Given the description of an element on the screen output the (x, y) to click on. 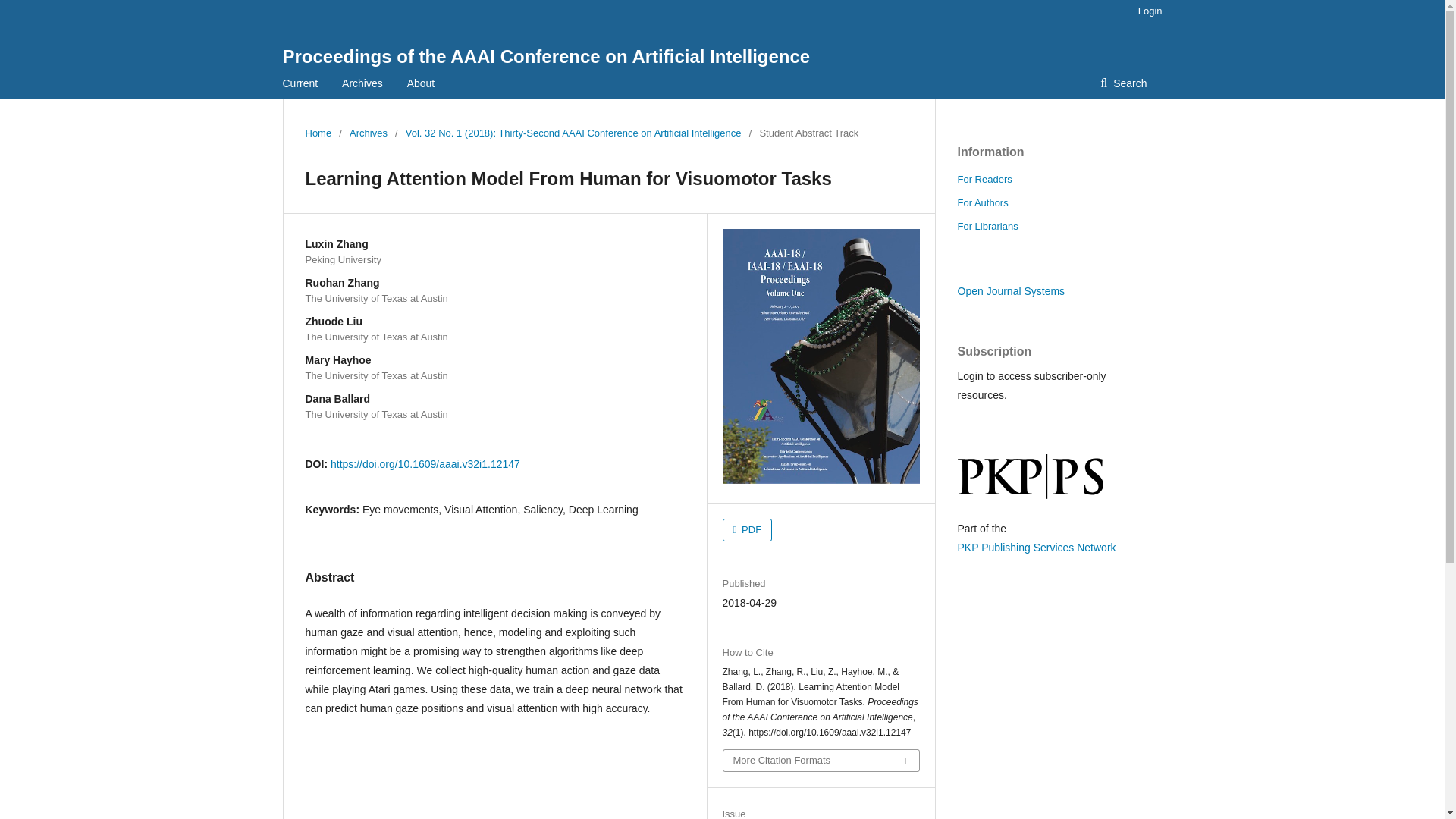
Archives (368, 133)
Archives (362, 82)
About (421, 82)
PDF (746, 529)
Login (1146, 11)
Search (1122, 82)
Home (317, 133)
Current (299, 82)
More Citation Formats (820, 760)
